Given the description of an element on the screen output the (x, y) to click on. 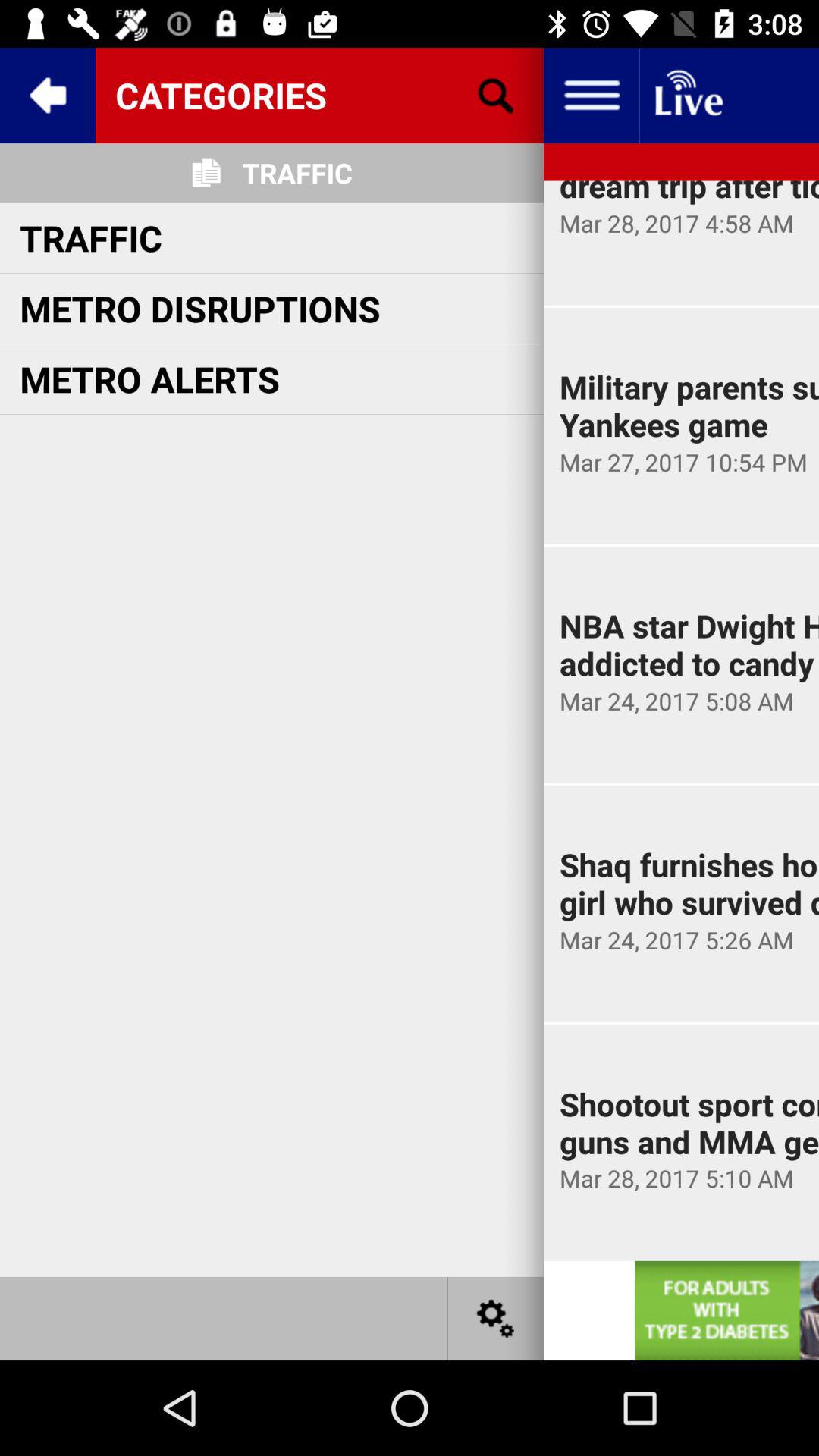
app settings (495, 1318)
